Given the description of an element on the screen output the (x, y) to click on. 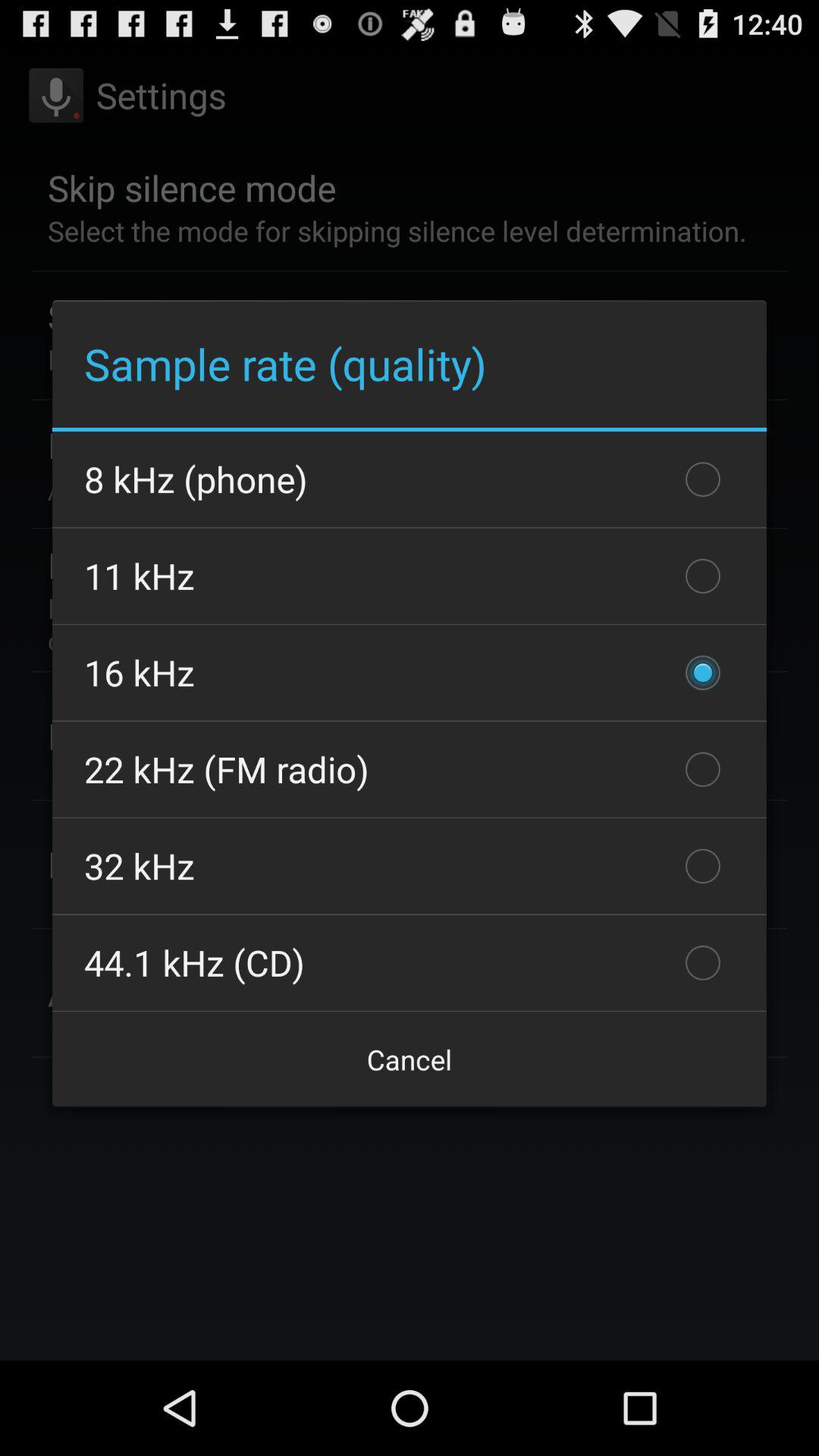
press the checkbox below 44 1 khz icon (409, 1059)
